Given the description of an element on the screen output the (x, y) to click on. 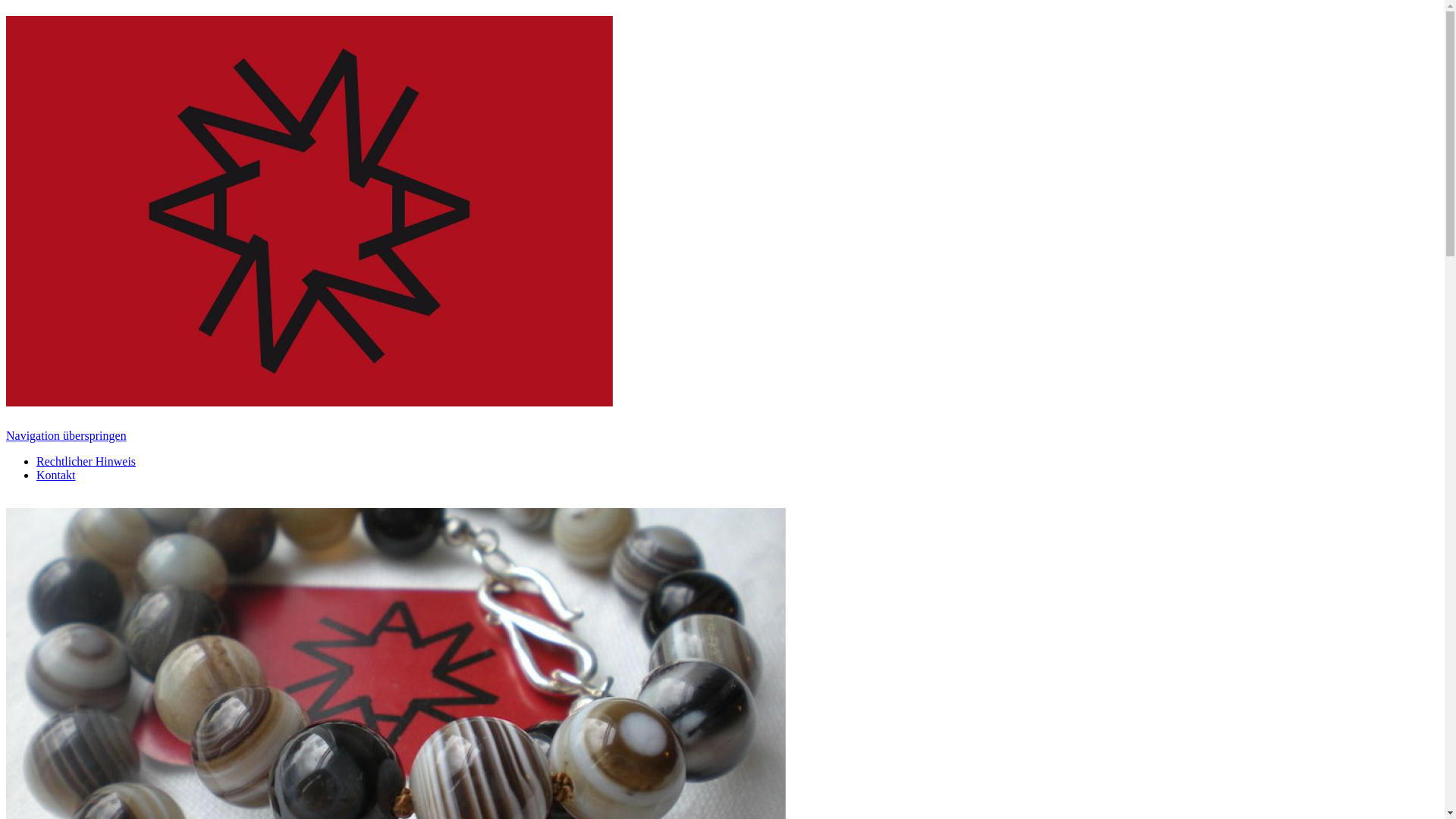
Rechtlicher Hinweis Element type: text (85, 461)
Kontakt Element type: text (55, 474)
  Element type: text (7, 500)
